Given the description of an element on the screen output the (x, y) to click on. 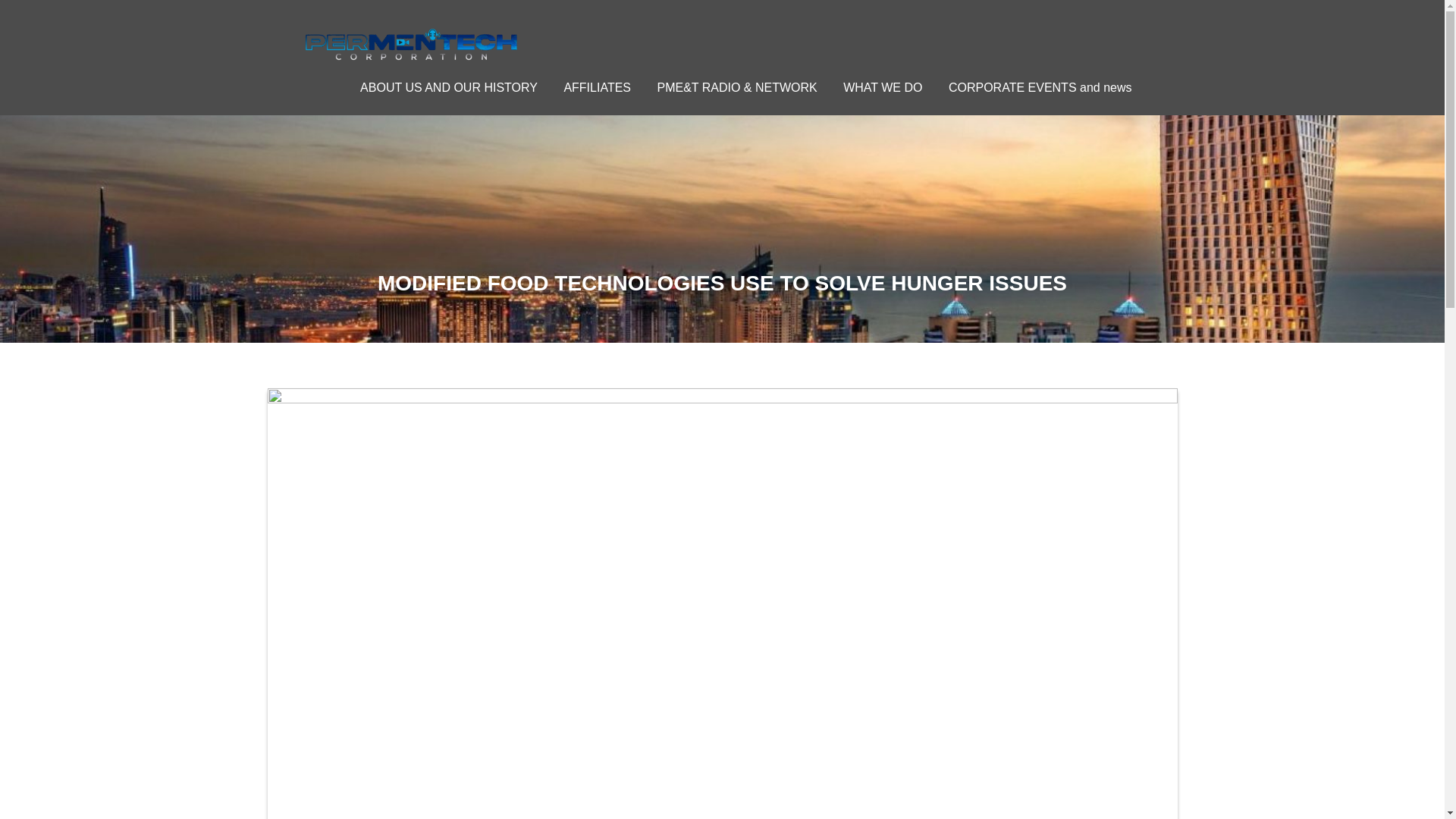
AFFILIATES (596, 87)
ABOUT US AND OUR HISTORY (448, 87)
WHAT WE DO (882, 87)
CORPORATE EVENTS and news (1039, 87)
